Given the description of an element on the screen output the (x, y) to click on. 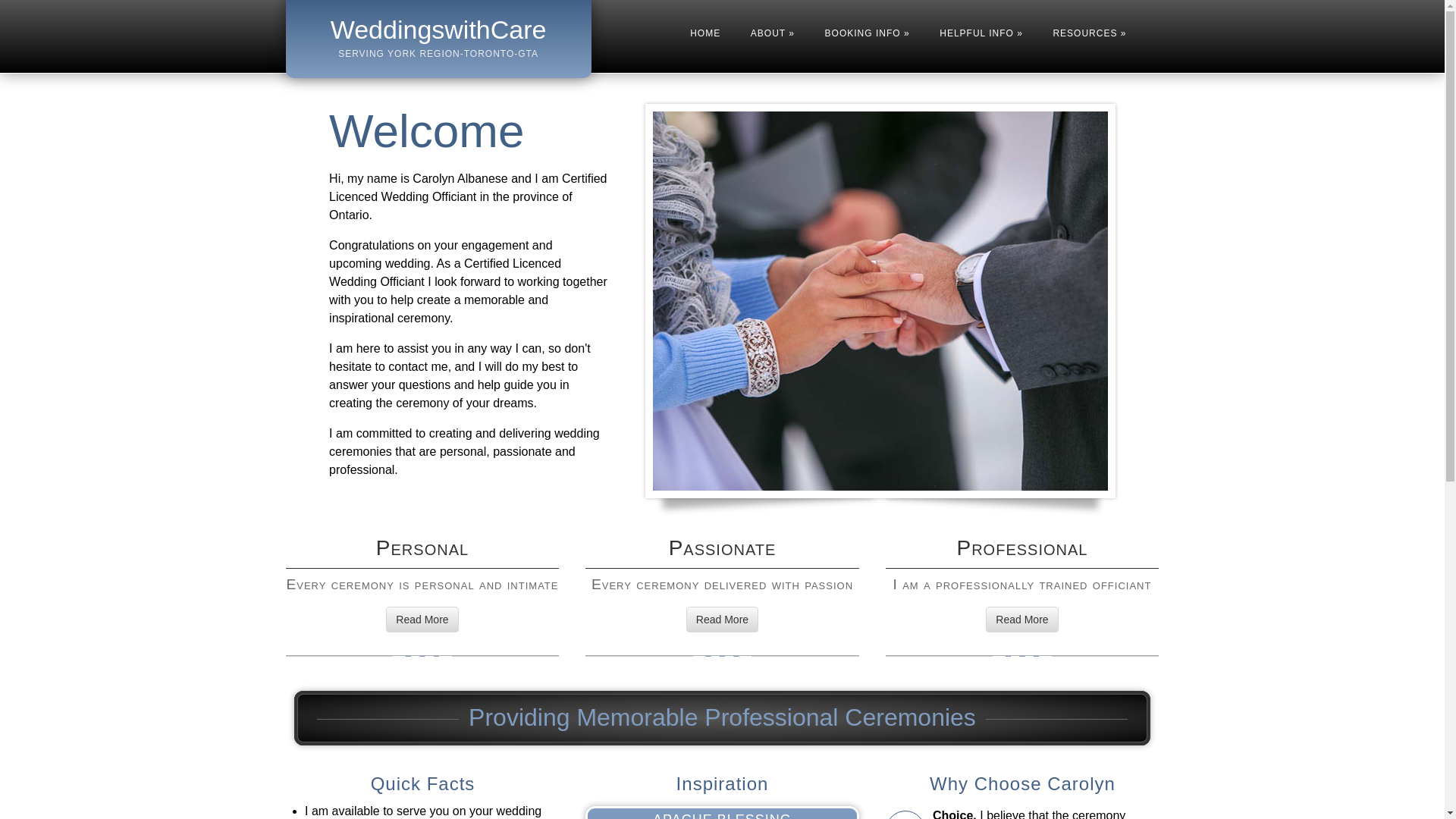
Read More (1021, 619)
Read More (421, 619)
Read More (721, 619)
HOME (705, 33)
